Given the description of an element on the screen output the (x, y) to click on. 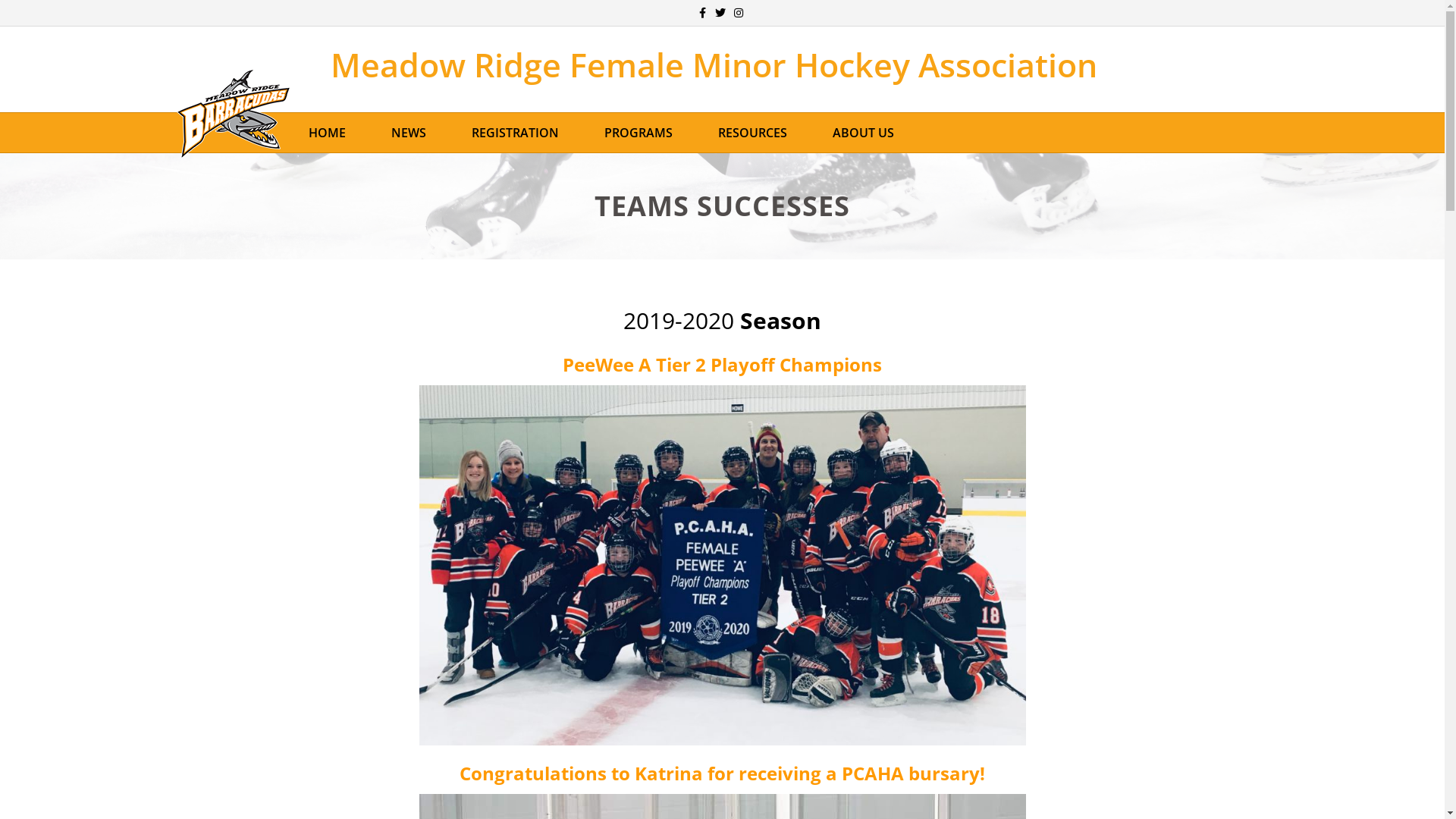
Facebook Element type: text (702, 11)
NEWS Element type: text (408, 132)
HOME Element type: text (326, 132)
PROGRAMS Element type: text (637, 132)
Twitter Element type: text (720, 11)
RESOURCES Element type: text (751, 132)
ABOUT US Element type: text (862, 132)
Instagram Element type: text (738, 11)
REGISTRATION Element type: text (514, 132)
